Given the description of an element on the screen output the (x, y) to click on. 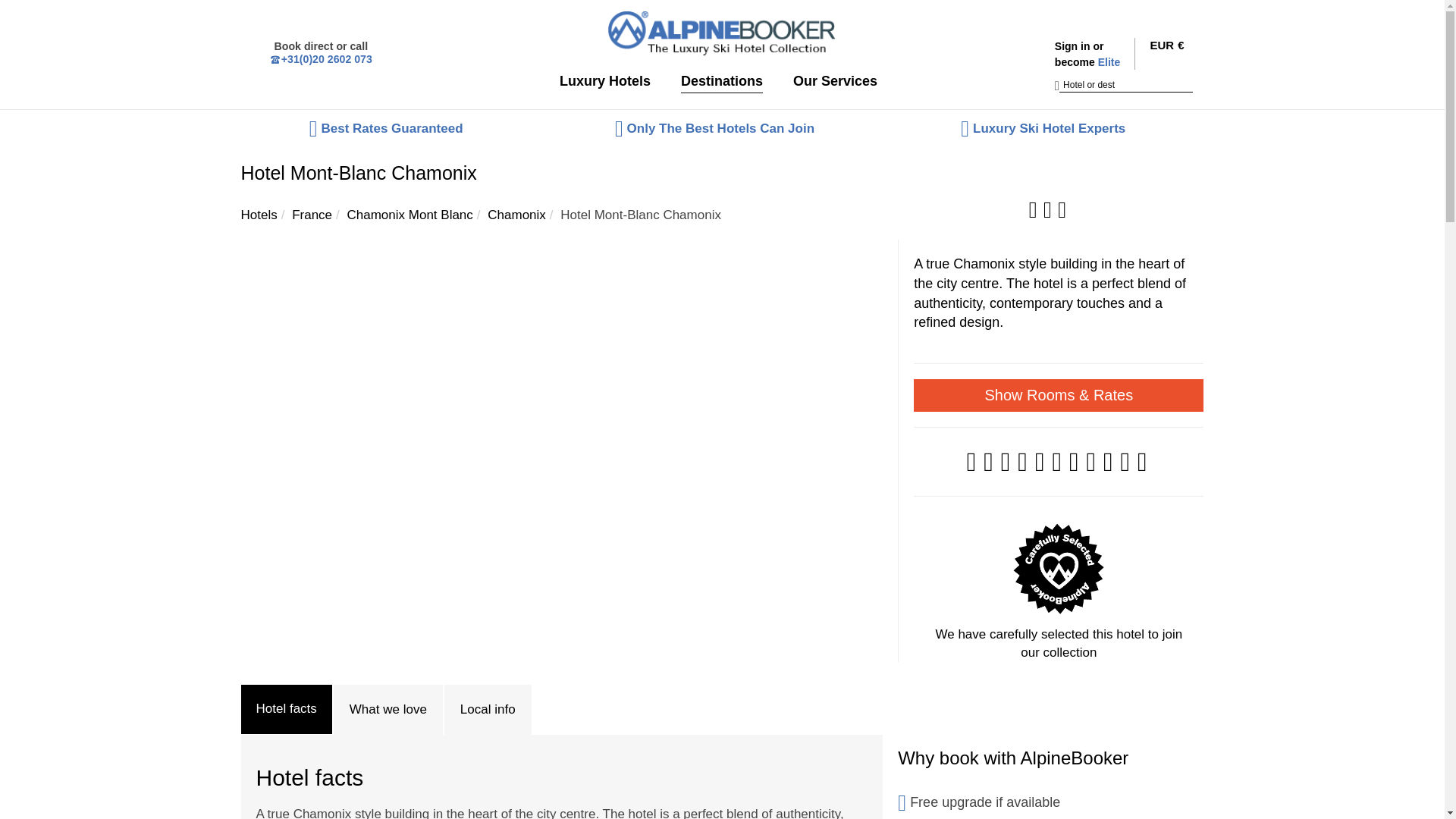
 Best Rates Guaranteed (393, 127)
Our Services (838, 85)
Luxury Hotels (608, 85)
Destinations (725, 85)
Sign in or become Elite (1092, 53)
